Given the description of an element on the screen output the (x, y) to click on. 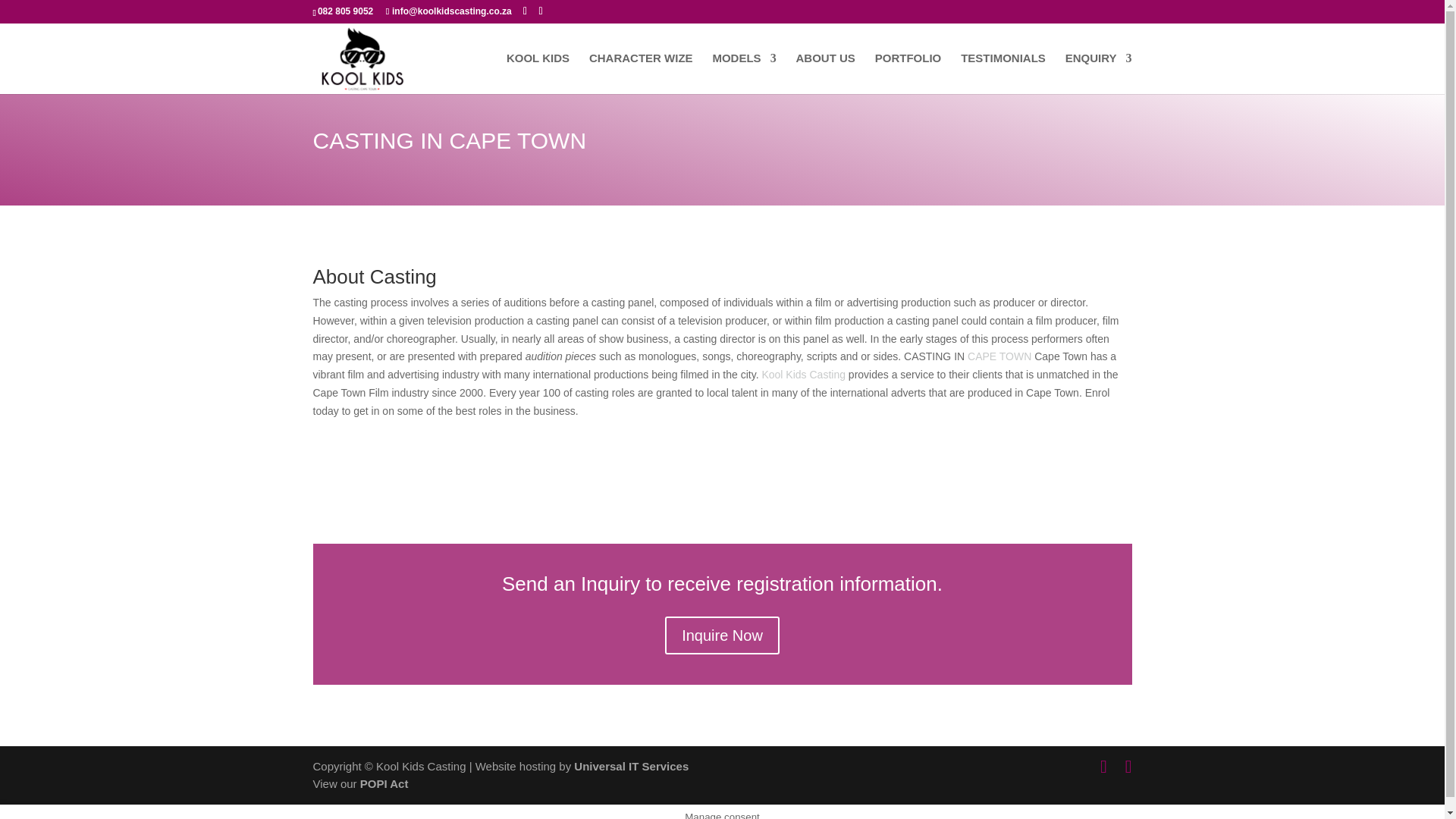
PORTFOLIO (908, 73)
CHARACTER WIZE (641, 73)
Casting (826, 374)
KOOL KIDS (537, 73)
ENQUIRY (1098, 73)
TESTIMONIALS (1002, 73)
MODELS (743, 73)
Inquire Now (721, 635)
CAPE TOWN (999, 356)
Universal IT Services (630, 766)
